Given the description of an element on the screen output the (x, y) to click on. 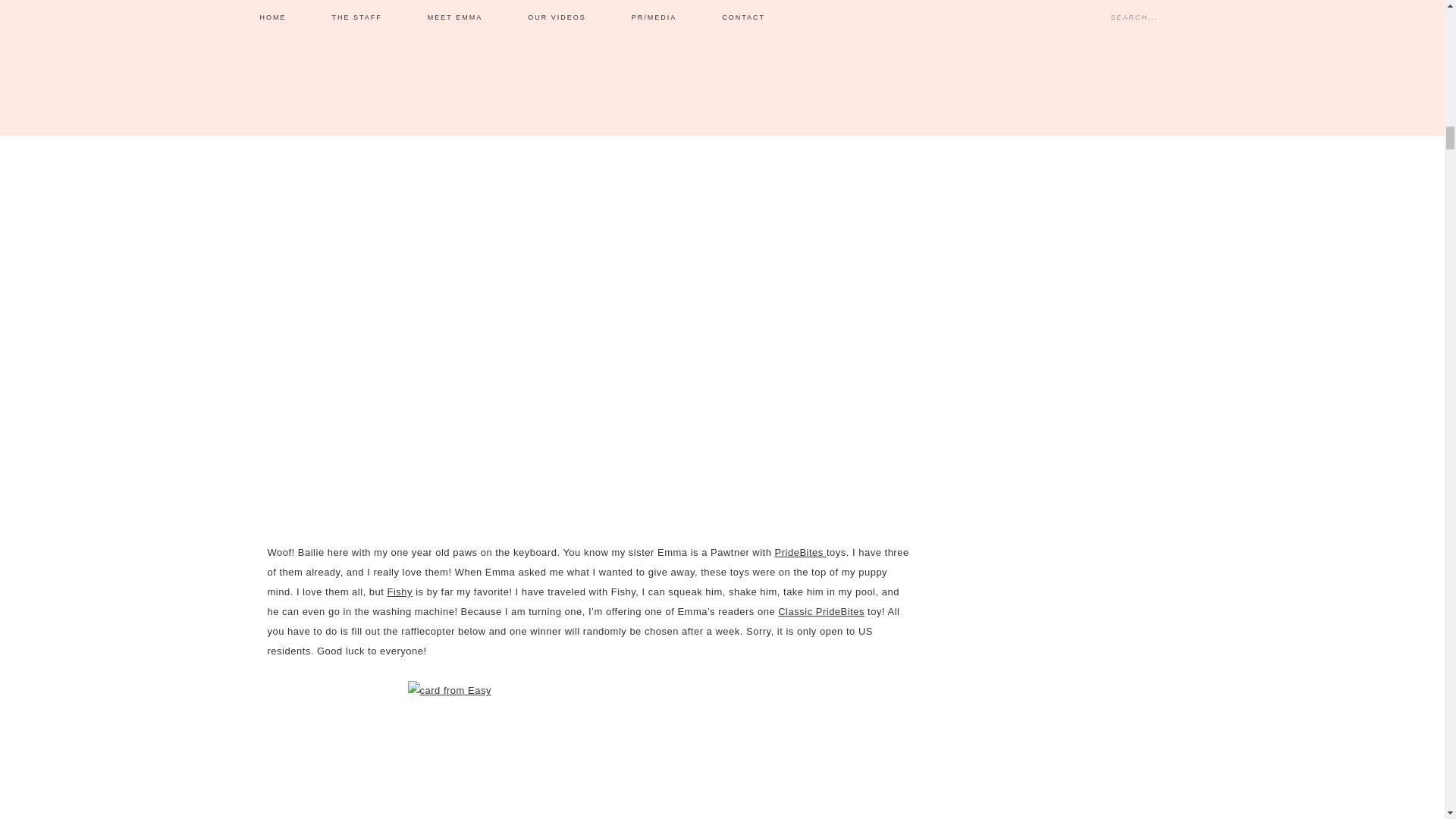
Classic PrideBites (820, 611)
Fishy (400, 591)
PrideBites (800, 552)
Click here (762, 70)
